Given the description of an element on the screen output the (x, y) to click on. 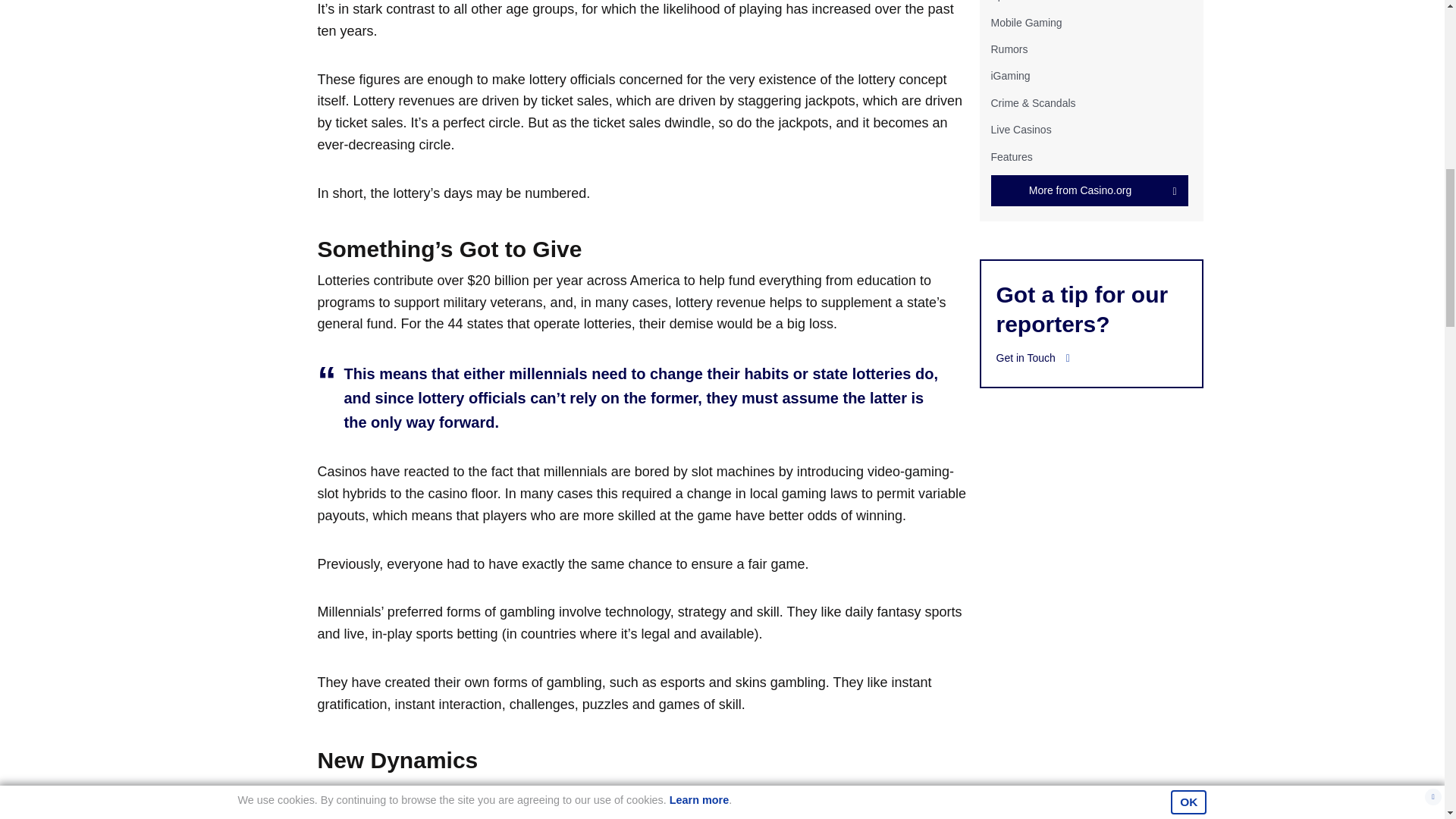
Rumors (1008, 49)
Features (1011, 155)
Rumors (1008, 49)
iGaming (1009, 75)
Mobile Gaming (1025, 22)
Mobile Gaming (1025, 22)
iGaming (1009, 75)
Live Casinos (1020, 129)
Sports (1005, 0)
New Jersey (543, 791)
